Given the description of an element on the screen output the (x, y) to click on. 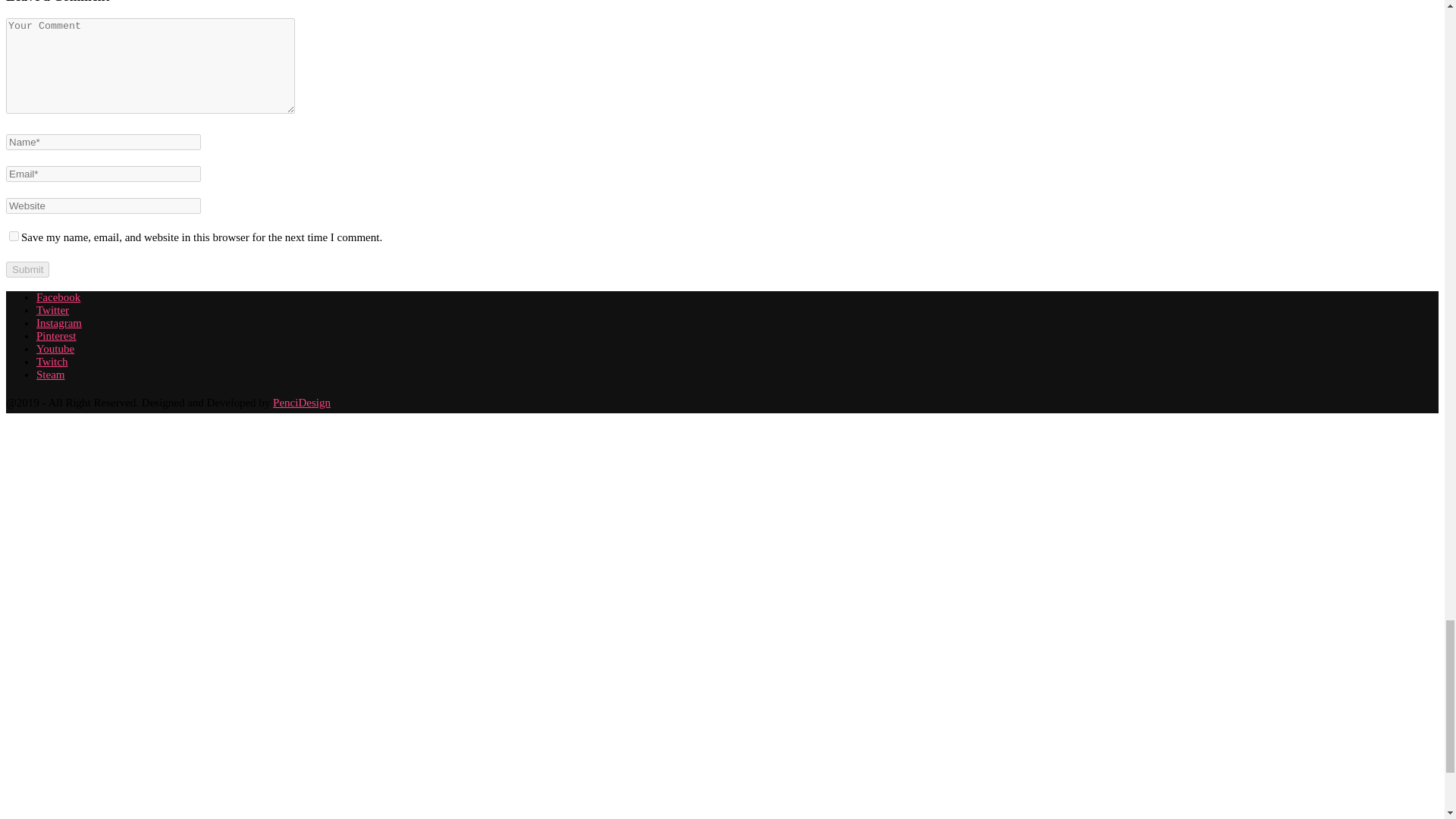
yes (13, 235)
Submit (27, 269)
